Given the description of an element on the screen output the (x, y) to click on. 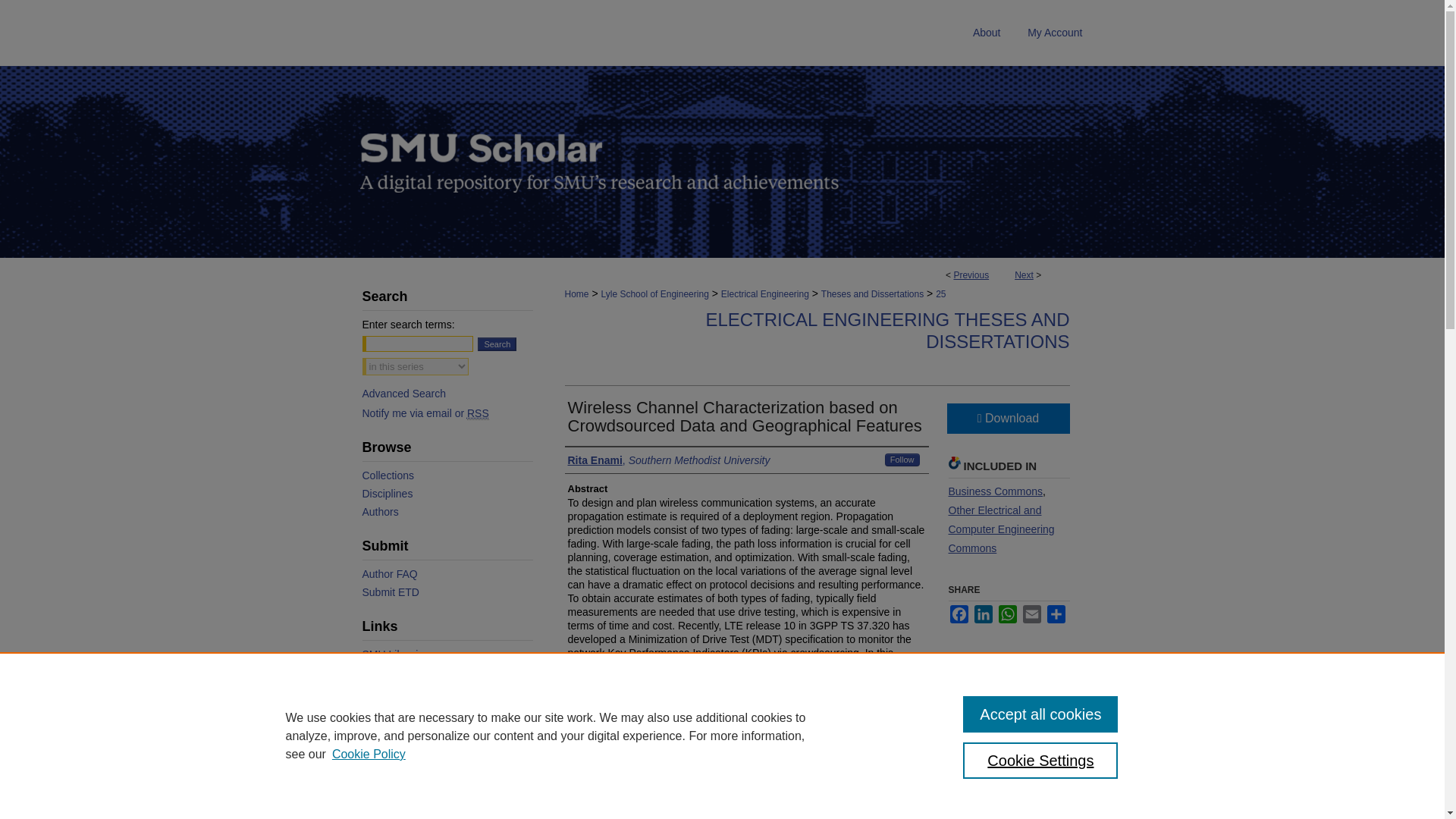
Business Commons (994, 491)
Home (576, 294)
Notify me via email or RSS (447, 413)
Email (1031, 614)
Search (496, 344)
My Account (1054, 33)
LinkedIn (982, 614)
Other Electrical and Computer Engineering Commons (1000, 529)
25 (940, 294)
Follow Rita Enami (902, 459)
Follow (902, 459)
Search (496, 344)
ELECTRICAL ENGINEERING THESES AND DISSERTATIONS (886, 330)
My Account (1054, 33)
